Given the description of an element on the screen output the (x, y) to click on. 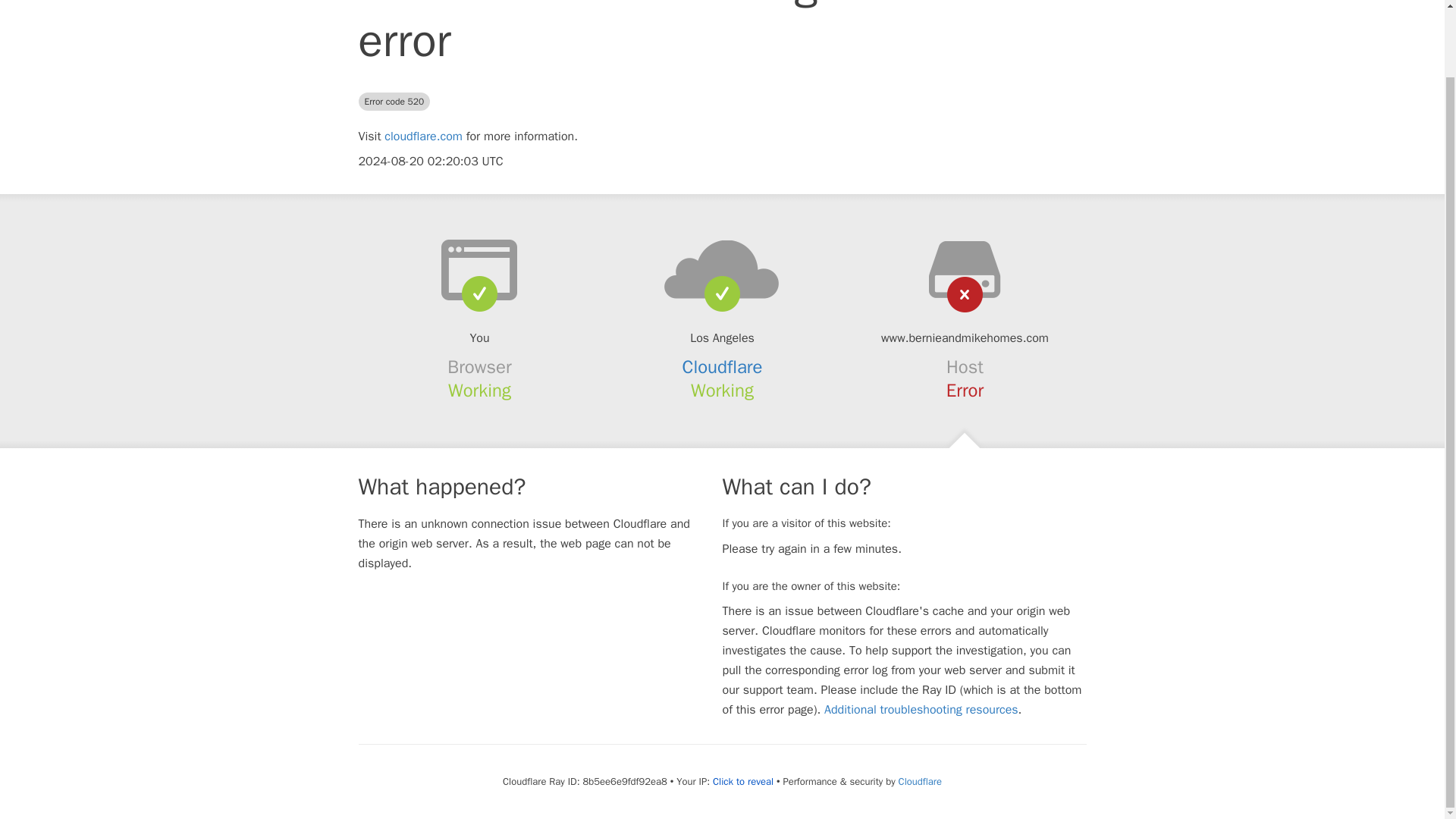
Cloudflare (920, 780)
cloudflare.com (423, 136)
Additional troubleshooting resources (920, 709)
Click to reveal (743, 781)
Cloudflare (722, 366)
